Given the description of an element on the screen output the (x, y) to click on. 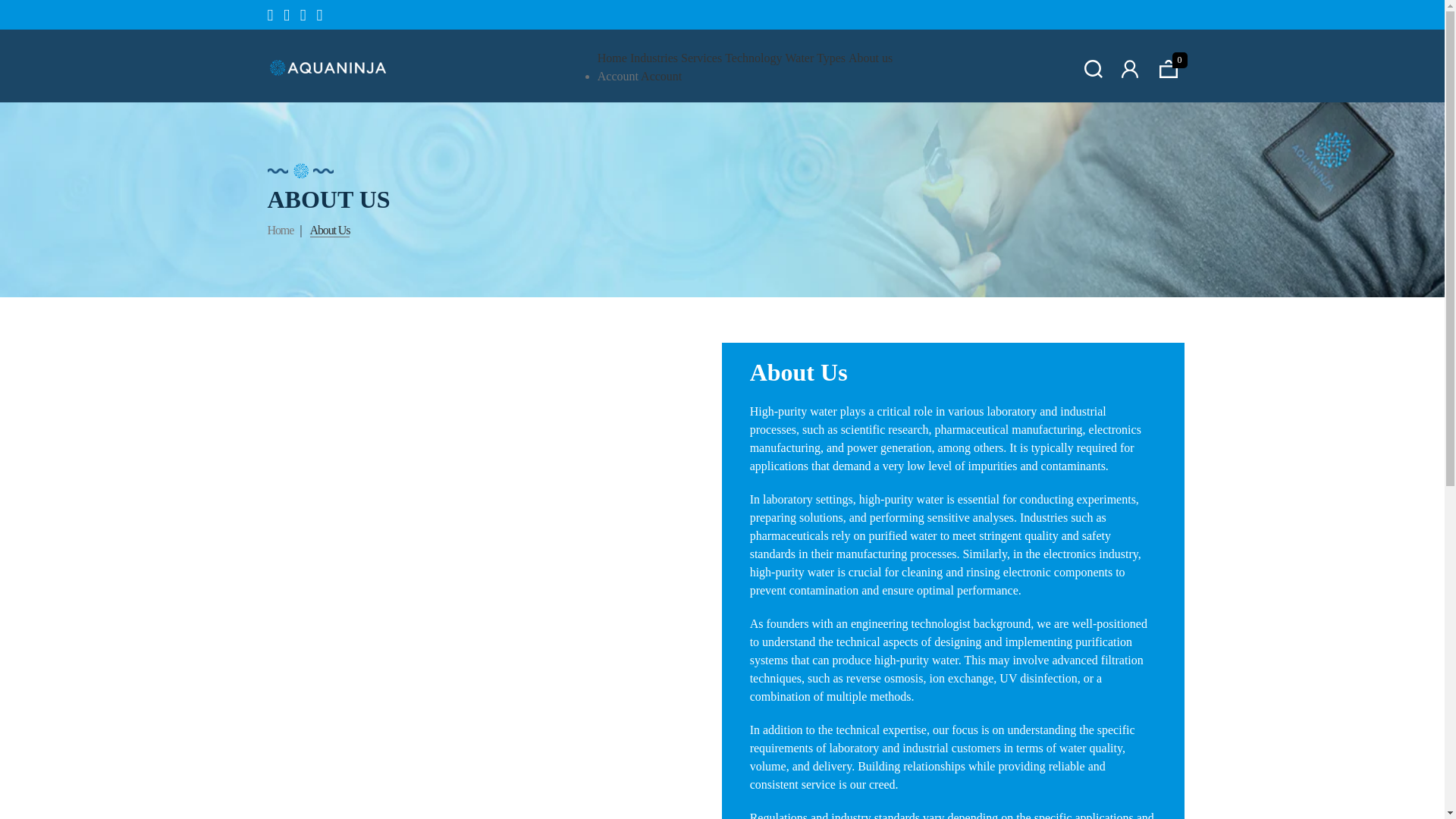
Industries (654, 57)
Home (280, 229)
Services (701, 57)
Water Types (815, 57)
Technology (753, 57)
0 (1167, 68)
Account (660, 75)
Home (611, 57)
About us (870, 57)
